Given the description of an element on the screen output the (x, y) to click on. 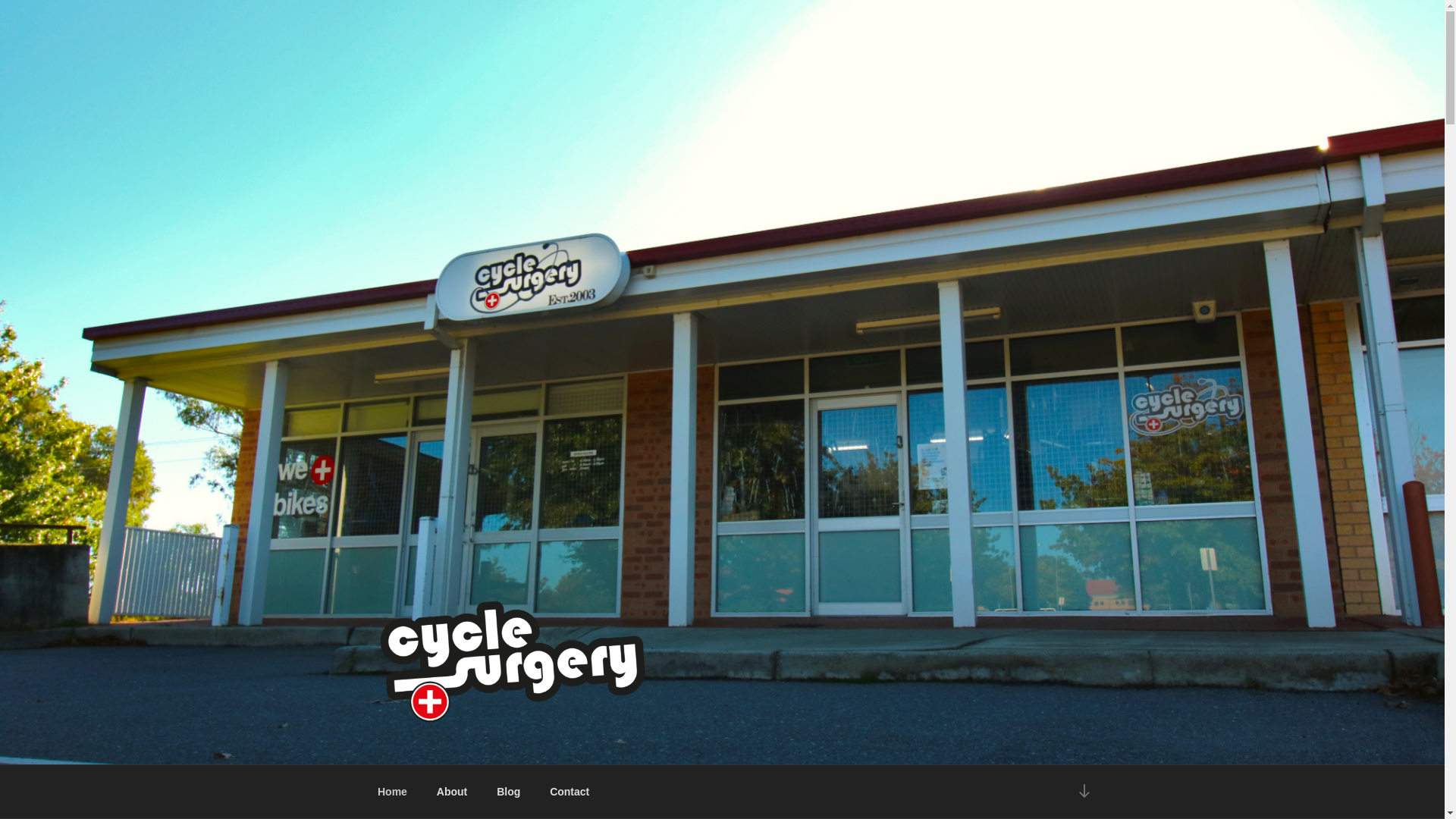
CYCLE SURGERY Element type: text (510, 744)
Scroll down to content Element type: text (1083, 790)
About Element type: text (451, 791)
Contact Element type: text (569, 791)
Home Element type: text (392, 791)
Blog Element type: text (508, 791)
